Given the description of an element on the screen output the (x, y) to click on. 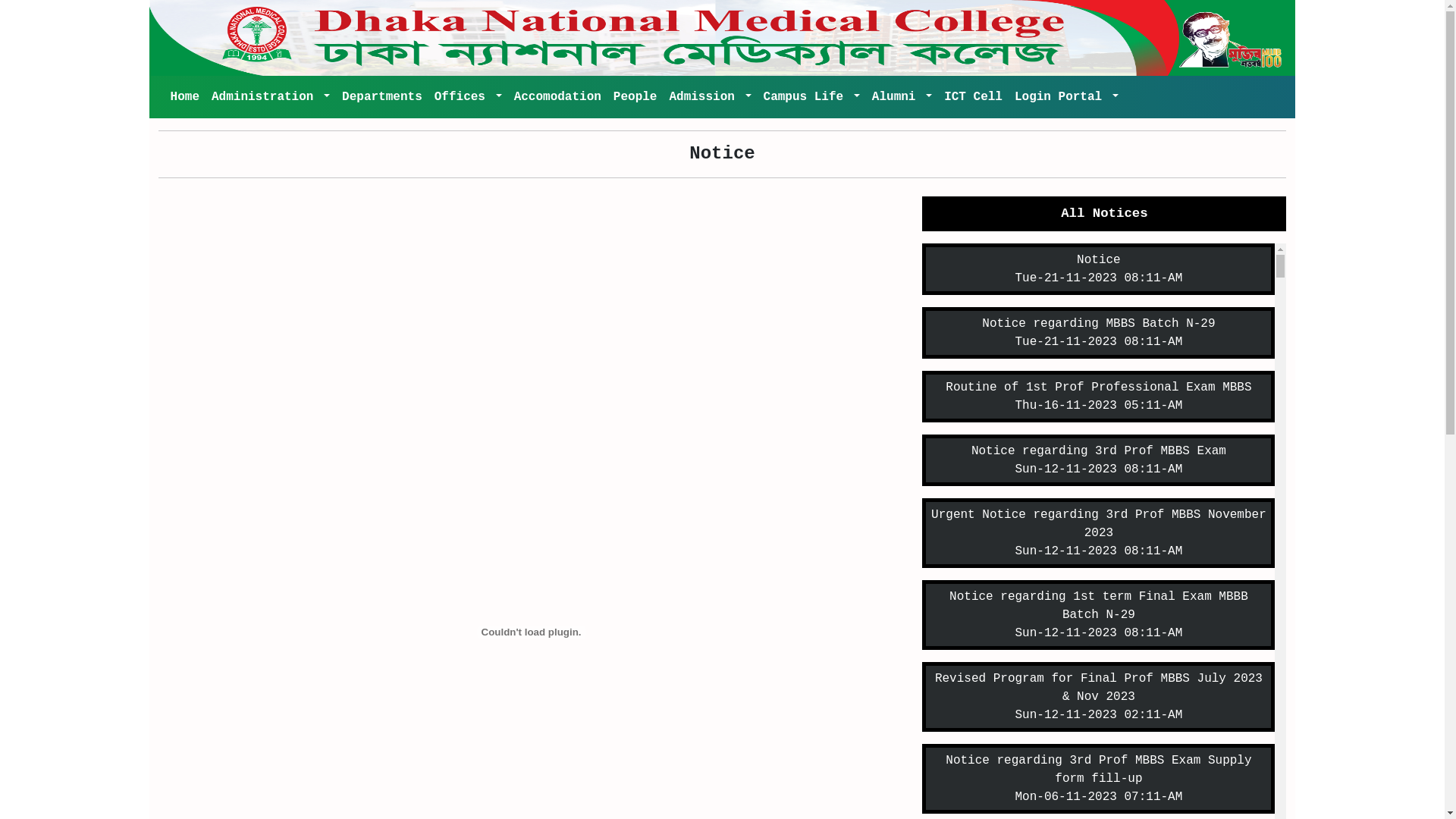
Offices Element type: text (468, 96)
Notice
Tue-21-11-2023 08:11-AM Element type: text (1098, 268)
Alumni Element type: text (902, 96)
Campus Life Element type: text (811, 96)
Notice regarding 3rd Prof MBBS Exam
Sun-12-11-2023 08:11-AM Element type: text (1098, 460)
Notice regarding MBBS Batch N-29
Tue-21-11-2023 08:11-AM Element type: text (1098, 332)
Home Element type: text (184, 96)
Accomodation Element type: text (557, 96)
Admission Element type: text (709, 96)
Departments Element type: text (381, 96)
Login Portal Element type: text (1066, 96)
People Element type: text (635, 96)
Administration Element type: text (270, 96)
ICT Cell Element type: text (973, 96)
